Given the description of an element on the screen output the (x, y) to click on. 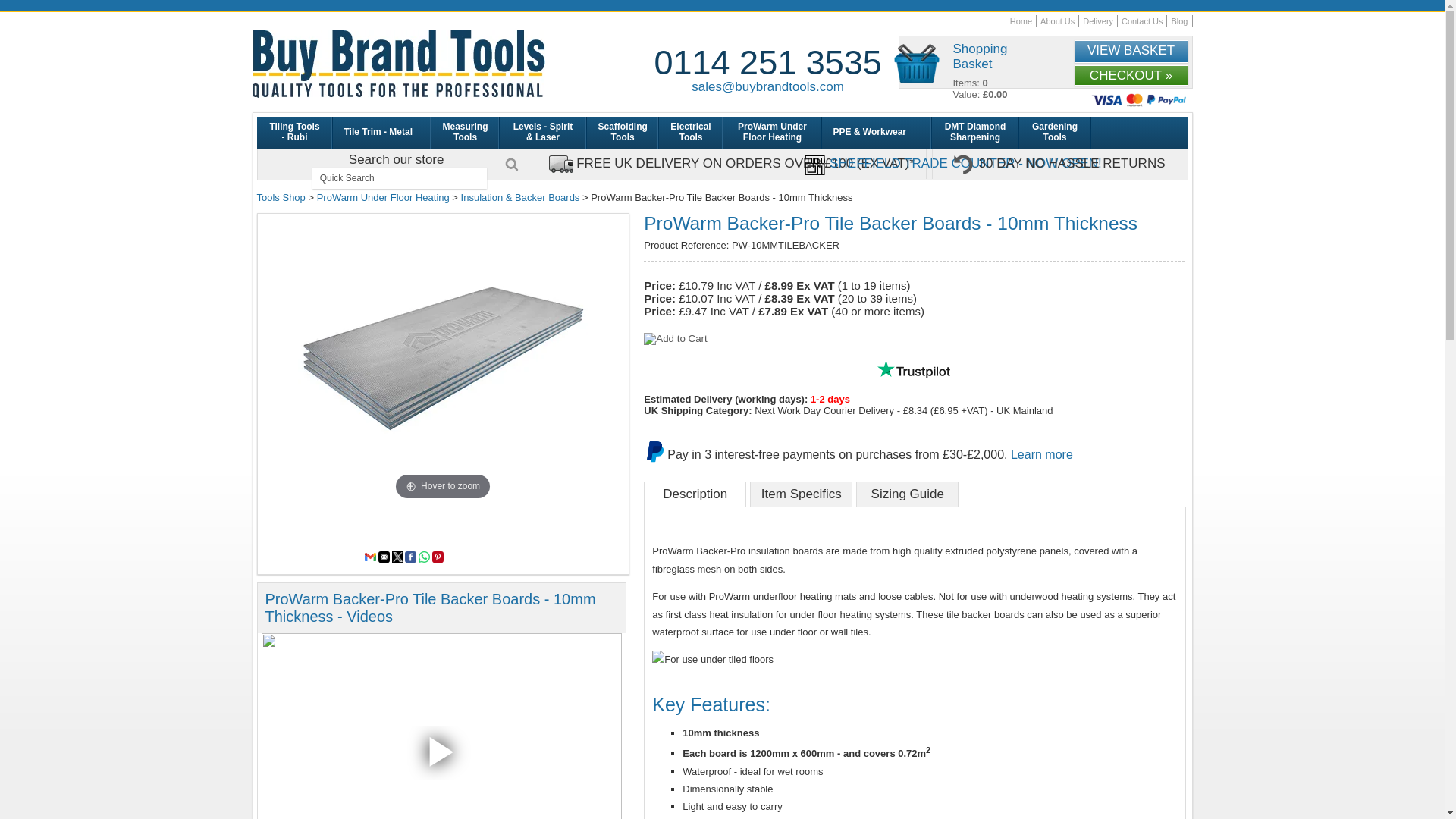
Quick Search (399, 178)
Delivery (1098, 20)
Quick Search (399, 178)
Contact Us (1141, 20)
Home (1021, 20)
Go! (510, 164)
Go! (510, 164)
Customer reviews powered by Trustpilot (913, 369)
Blog (1179, 20)
Tiling Tools - Rubi (293, 132)
